Given the description of an element on the screen output the (x, y) to click on. 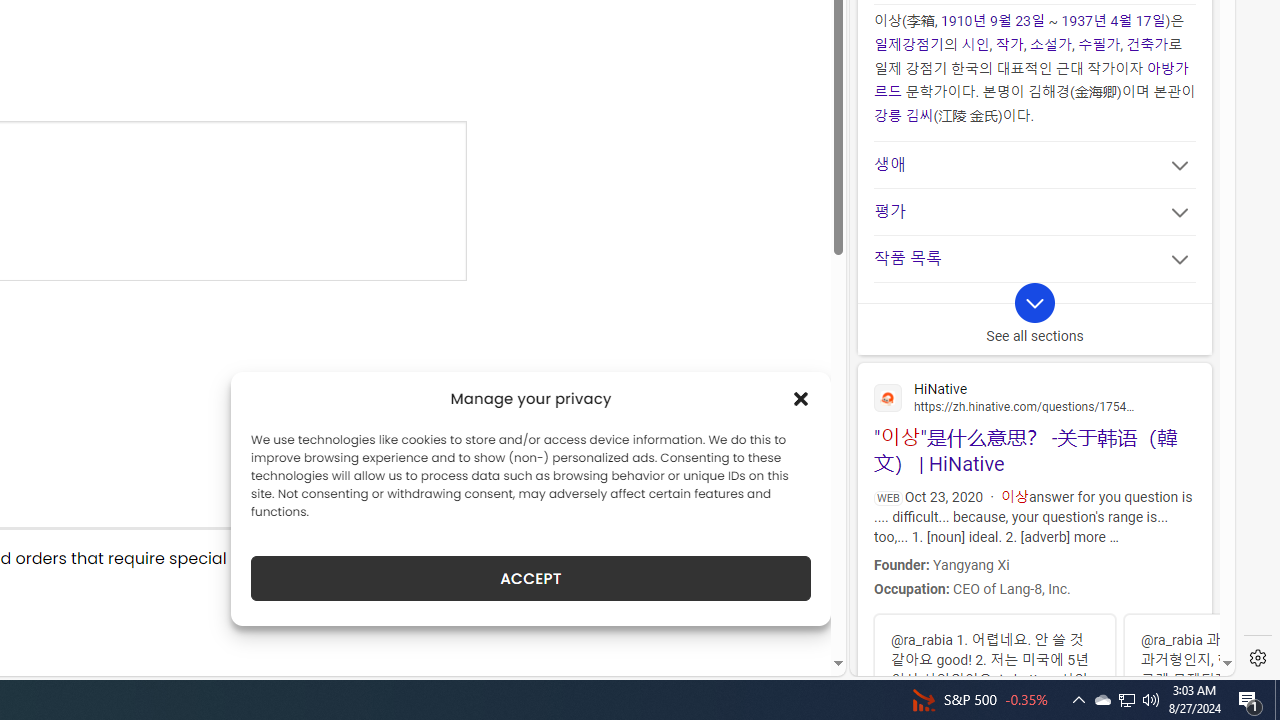
HiNative (1034, 395)
Occupation: CEO of Lang-8, Inc. (1032, 587)
See all sections (1034, 318)
